Given the description of an element on the screen output the (x, y) to click on. 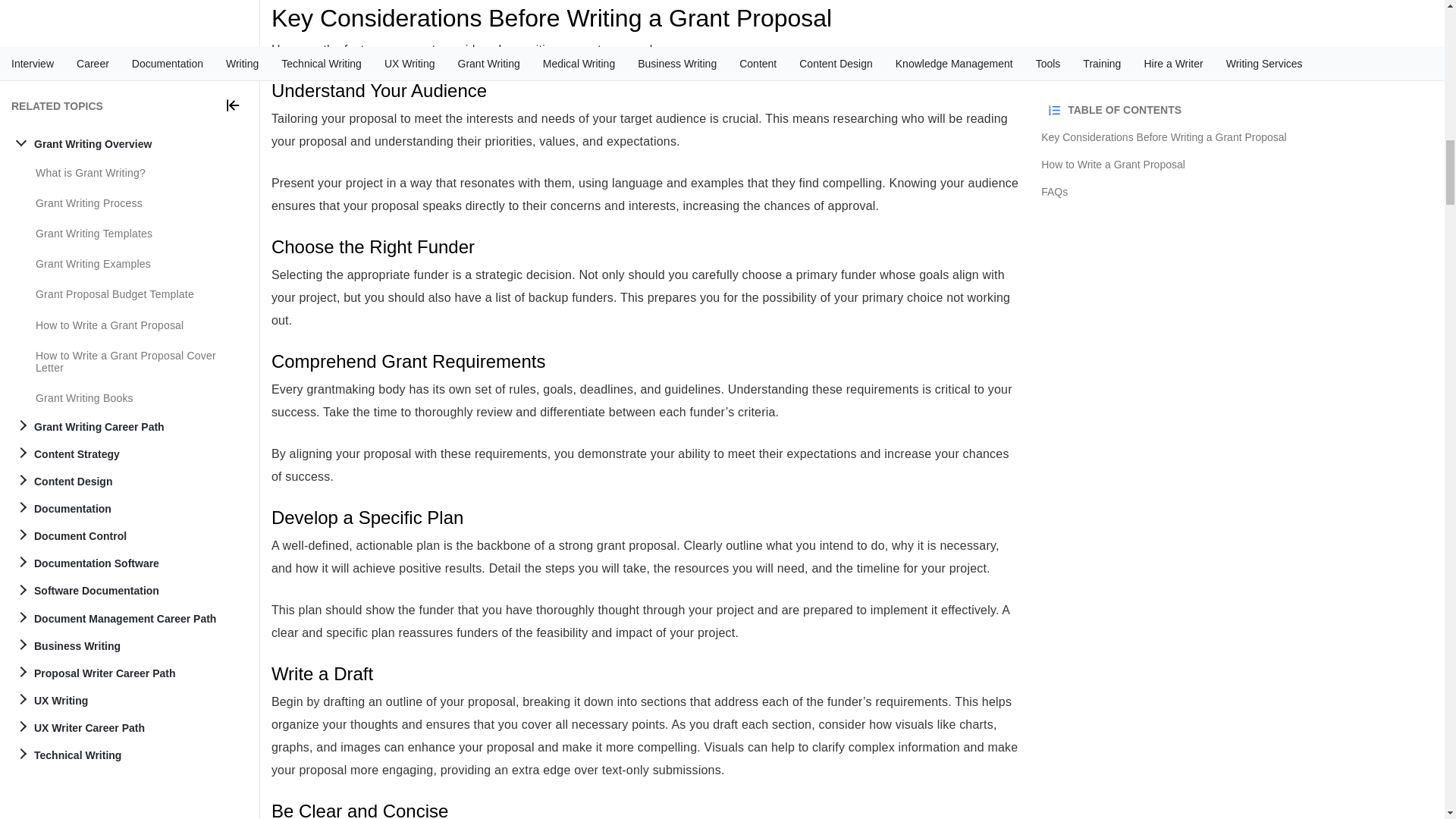
Understand Your Audience (643, 90)
Key Considerations Before Writing a Grant Proposal (643, 18)
Comprehend Grant Requirements (643, 361)
Develop a Specific Plan (643, 517)
Choose the Right Funder (643, 246)
Be Clear and Concise (643, 809)
Write a Draft (643, 673)
